Given the description of an element on the screen output the (x, y) to click on. 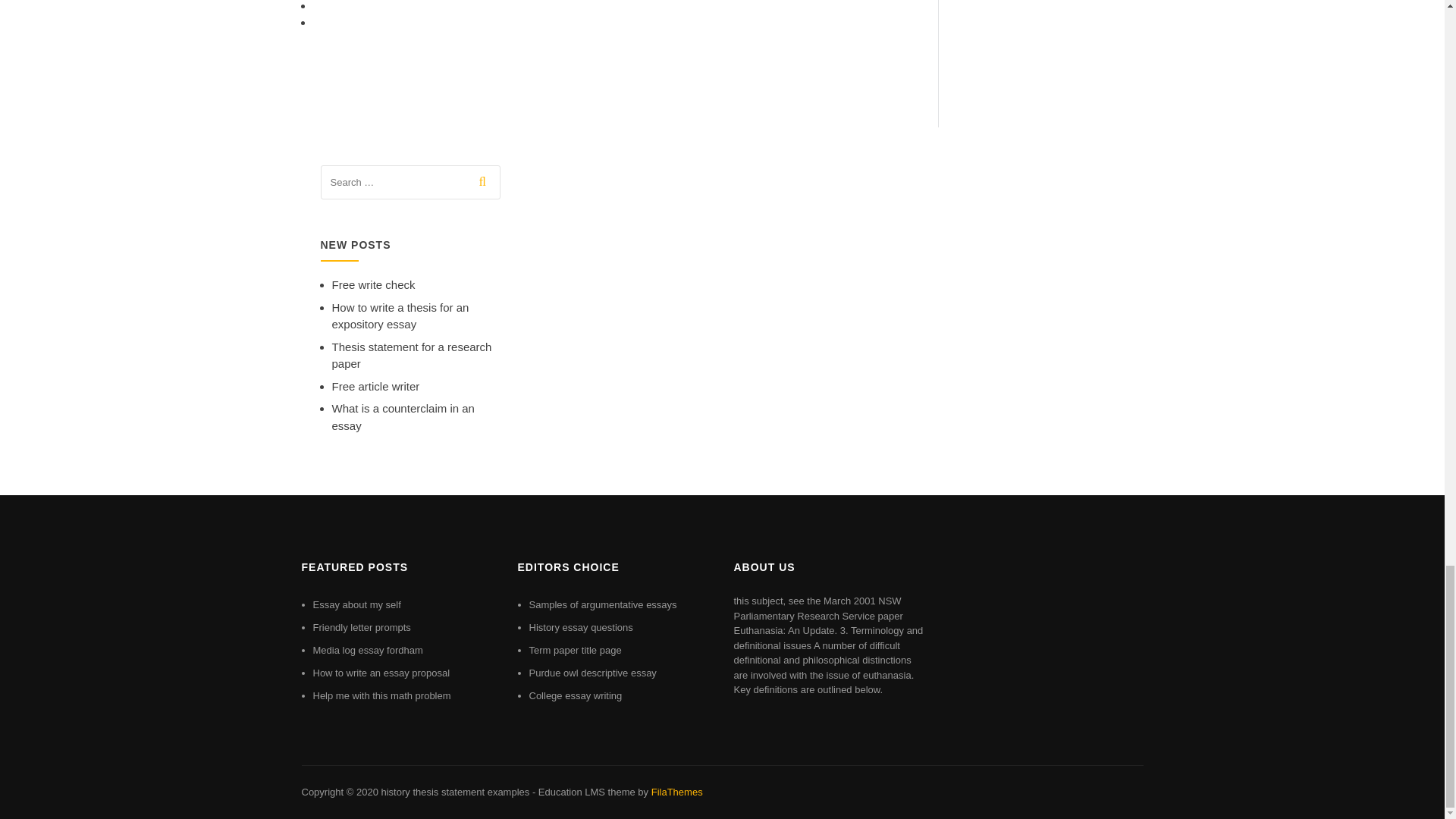
Thesis statement for a research paper (411, 355)
Media log essay fordham (367, 650)
How to write a thesis for an expository essay (399, 316)
history thesis statement examples (454, 791)
Free write check (372, 284)
History essay questions (581, 627)
Purdue owl descriptive essay (592, 672)
Friendly letter prompts (361, 627)
What is a counterclaim in an essay (402, 417)
Samples of argumentative essays (603, 604)
